Given the description of an element on the screen output the (x, y) to click on. 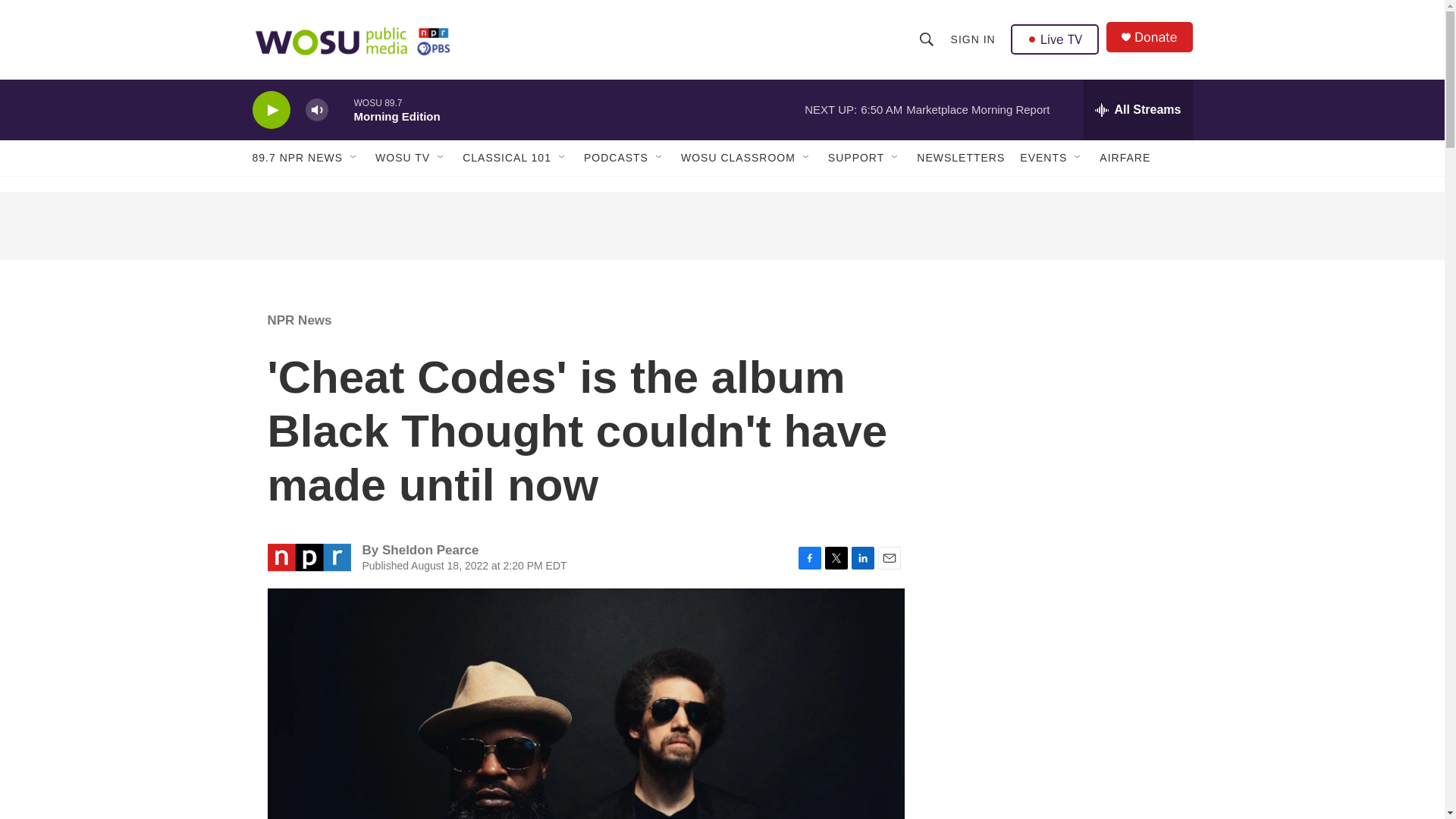
3rd party ad content (1062, 400)
3rd party ad content (1062, 619)
3rd party ad content (1062, 782)
3rd party ad content (721, 225)
